Given the description of an element on the screen output the (x, y) to click on. 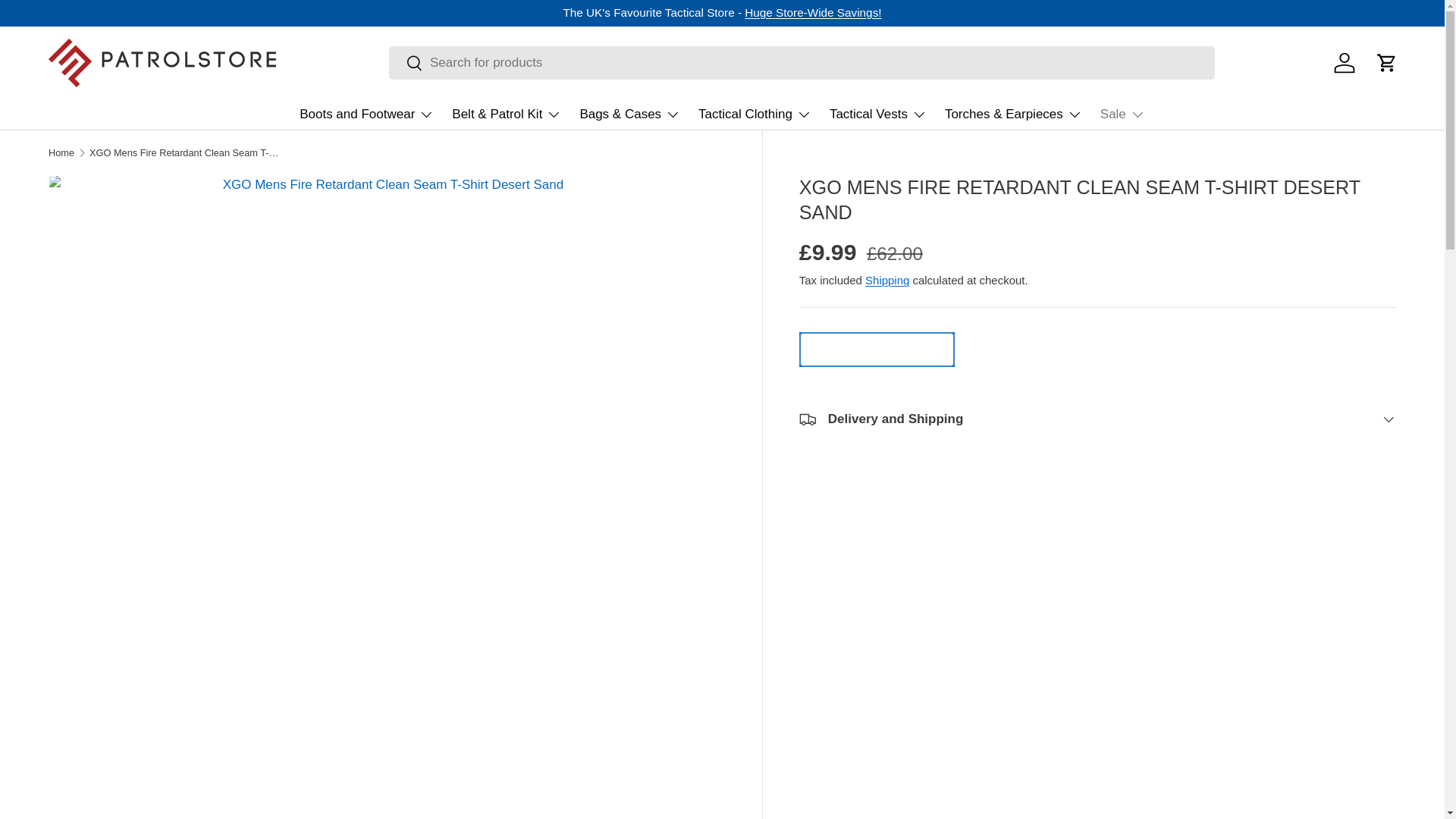
Huge Store-Wide Savings! (812, 11)
SKIP TO CONTENT (69, 21)
Search (405, 63)
Cart (1386, 62)
Boots and Footwear (366, 114)
Log in (1344, 62)
1 (877, 349)
This Week's Deals (812, 11)
